Given the description of an element on the screen output the (x, y) to click on. 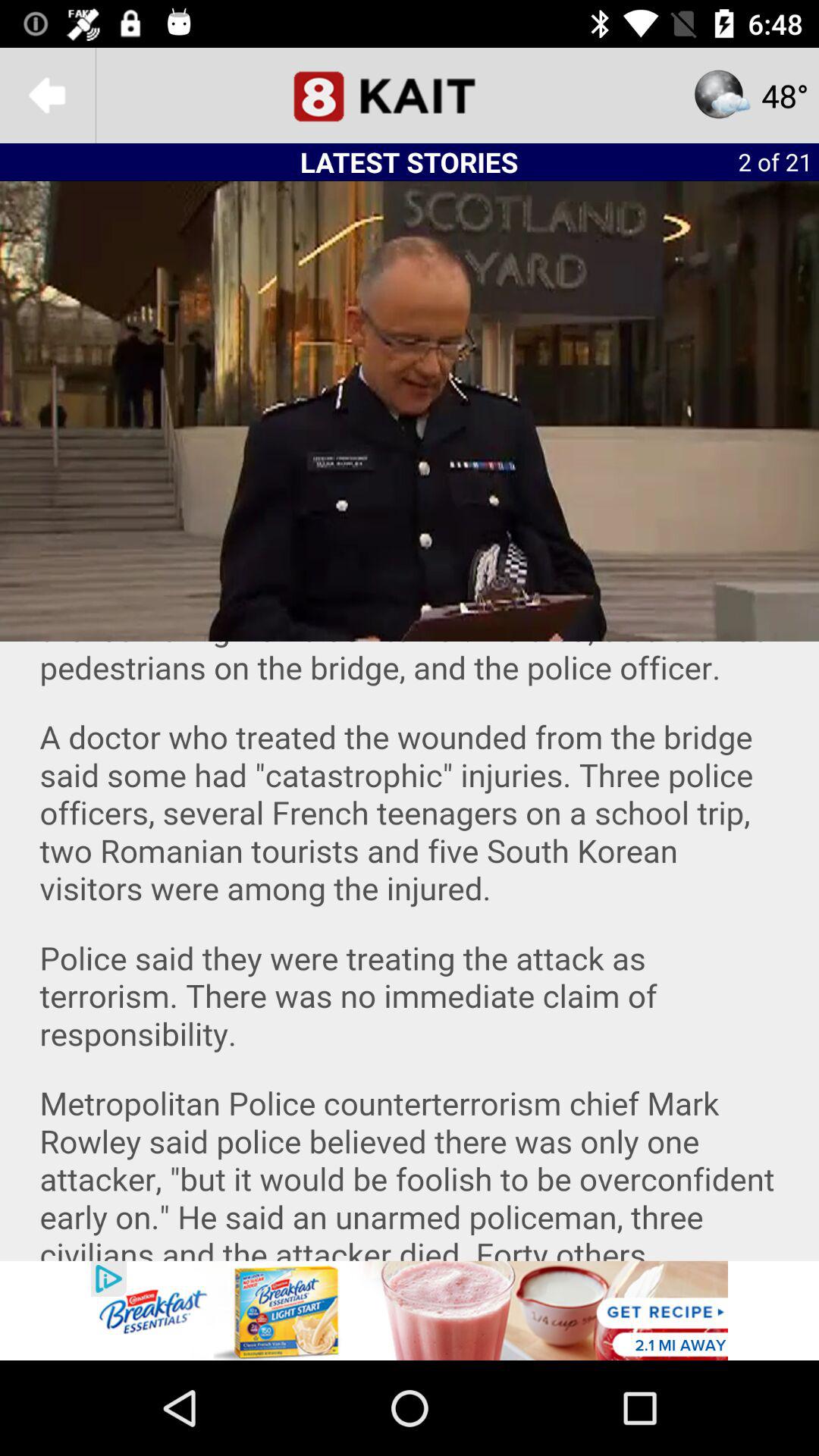
go back button (47, 95)
